Given the description of an element on the screen output the (x, y) to click on. 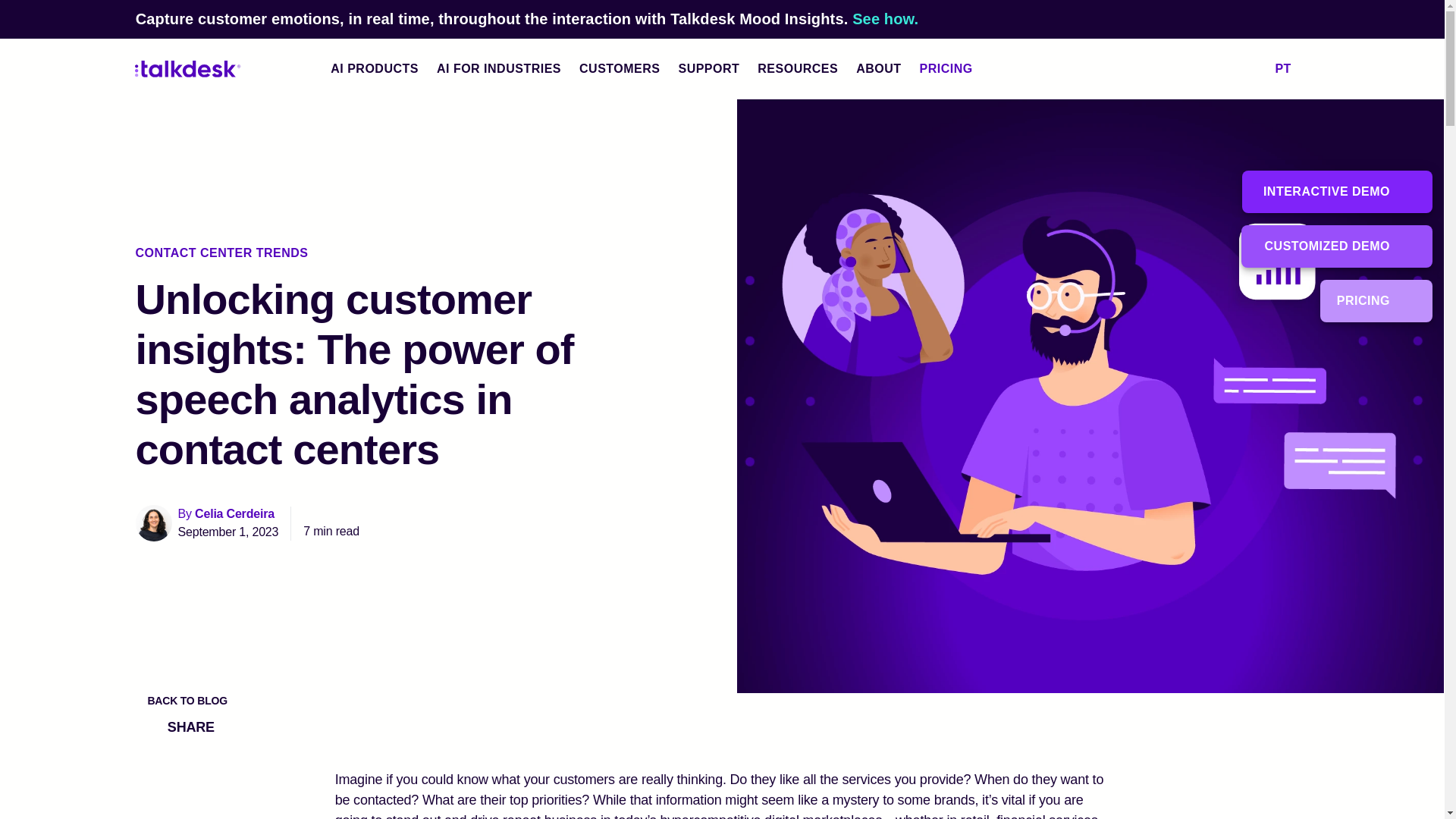
RESOURCES (797, 68)
CUSTOMERS (619, 68)
SUPPORT (708, 68)
AI PRODUCTS (374, 68)
PRICING (957, 68)
AI FOR INDUSTRIES (498, 68)
BACK TO BLOG (181, 700)
